Given the description of an element on the screen output the (x, y) to click on. 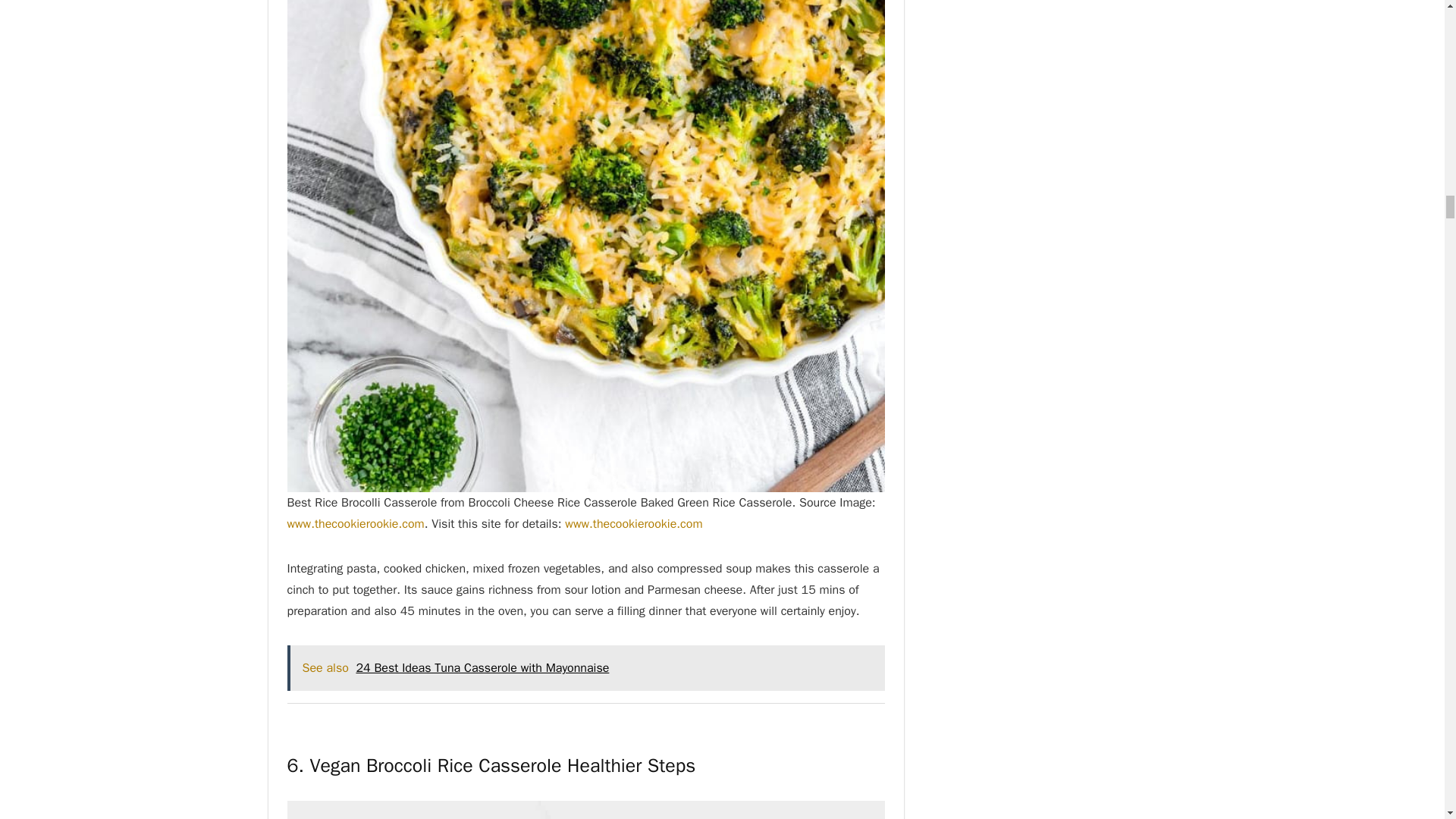
See also  24 Best Ideas Tuna Casserole with Mayonnaise (584, 668)
www.thecookierookie.com (632, 523)
www.thecookierookie.com (354, 523)
vegan broccoli rice casserole (584, 809)
